Given the description of an element on the screen output the (x, y) to click on. 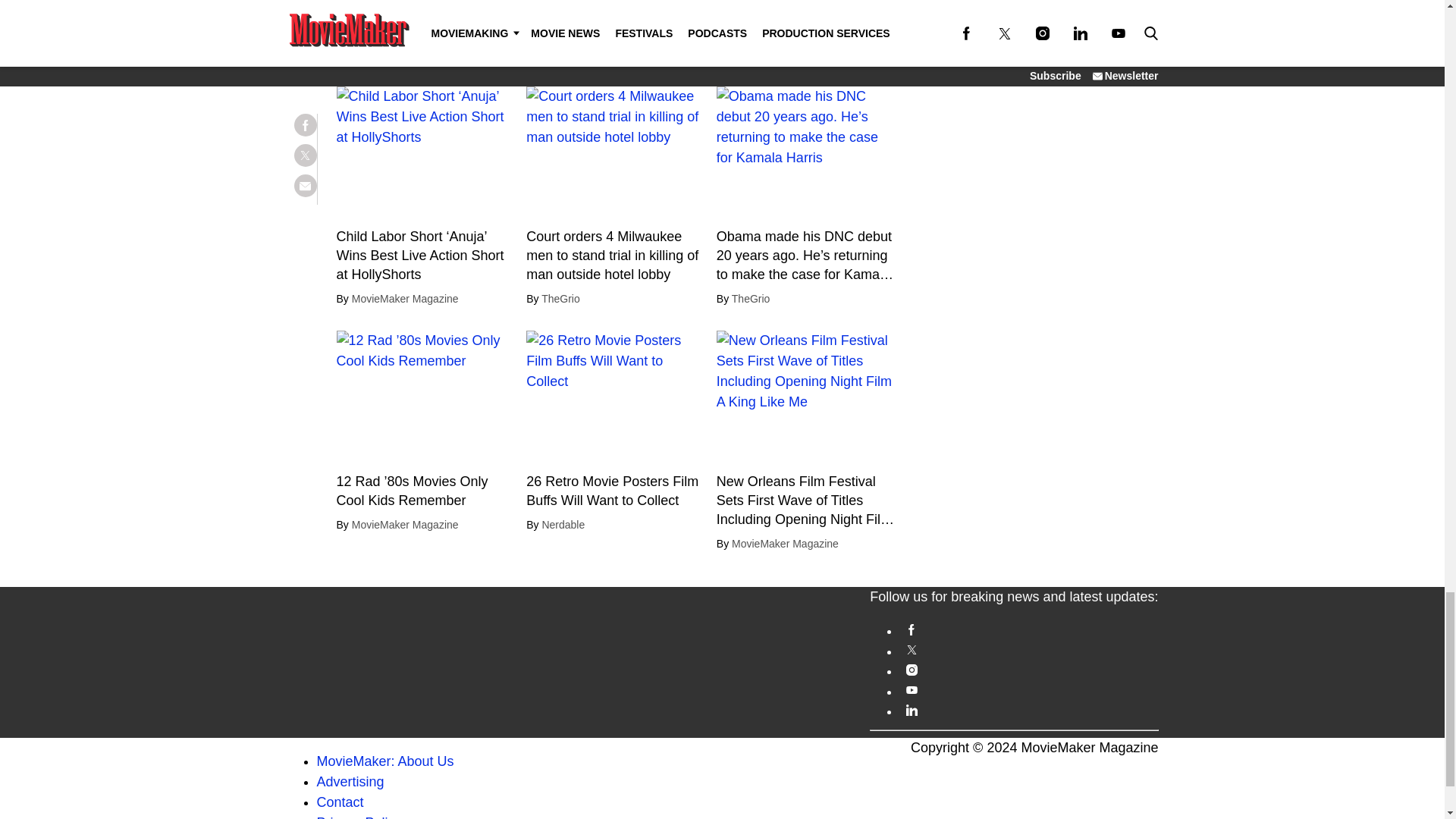
Contact MovieMaker Magazine (340, 801)
Connect with us on LinkedIn (1028, 709)
Advertising (350, 781)
Follow us on Facebook (1028, 629)
MovieMaker Magazine Privacy Policy (359, 816)
MovieMaker: About Us (385, 761)
Follow us on Twitter (1028, 650)
Follow us on Instagram (1028, 669)
Subscribe to our YouTube channel (1028, 690)
